Given the description of an element on the screen output the (x, y) to click on. 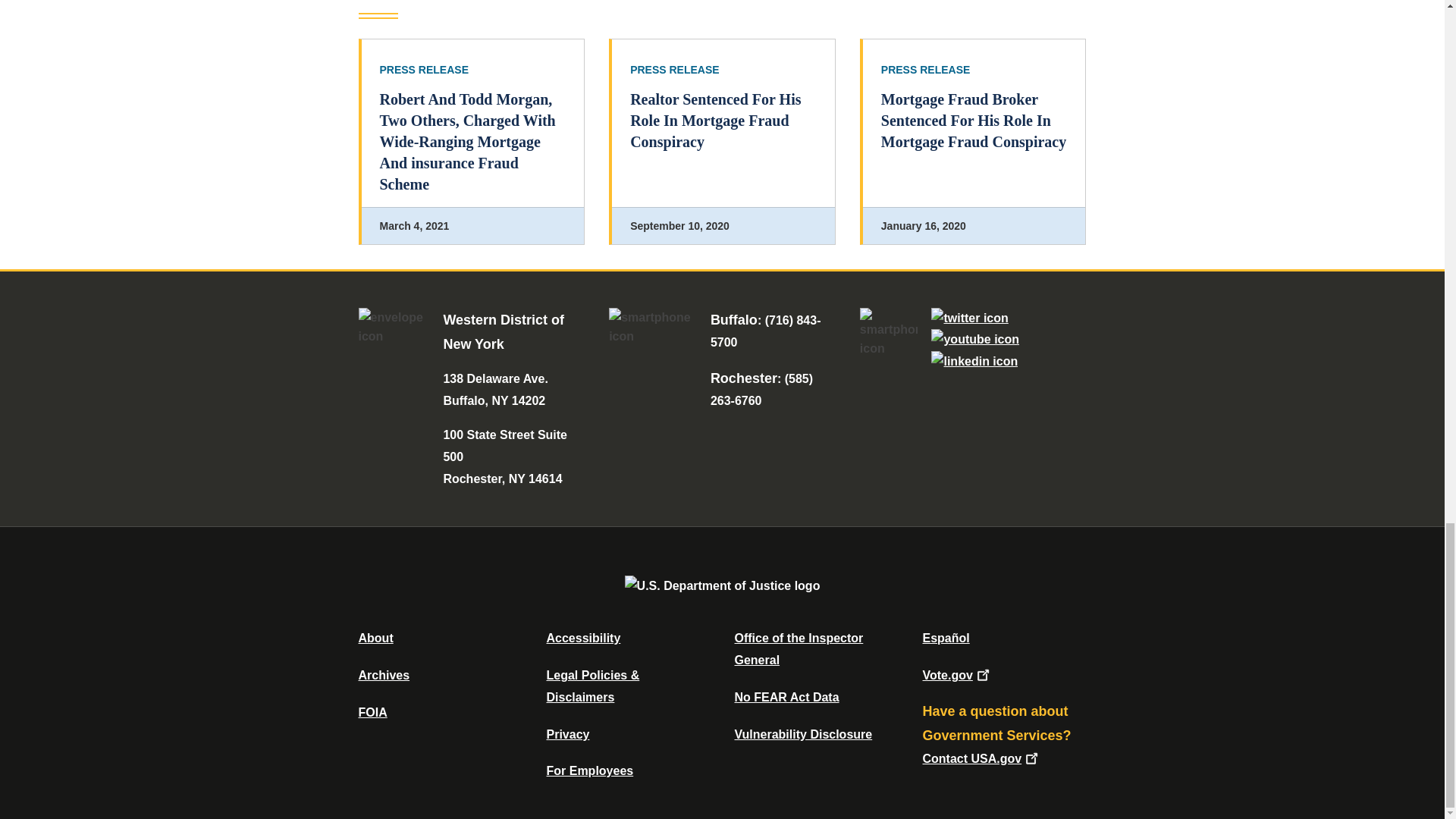
Data Posted Pursuant To The No Fear Act (785, 697)
Office of Information Policy (372, 712)
Legal Policies and Disclaimers (592, 686)
Department of Justice Archive (383, 675)
Accessibility Statement (583, 637)
For Employees (589, 770)
About DOJ (375, 637)
